Given the description of an element on the screen output the (x, y) to click on. 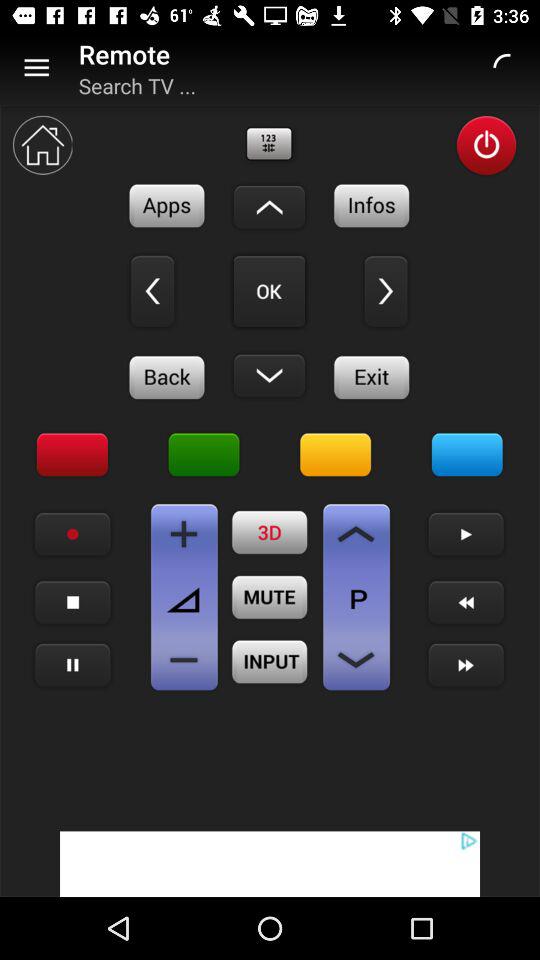
3d option button (269, 532)
